Given the description of an element on the screen output the (x, y) to click on. 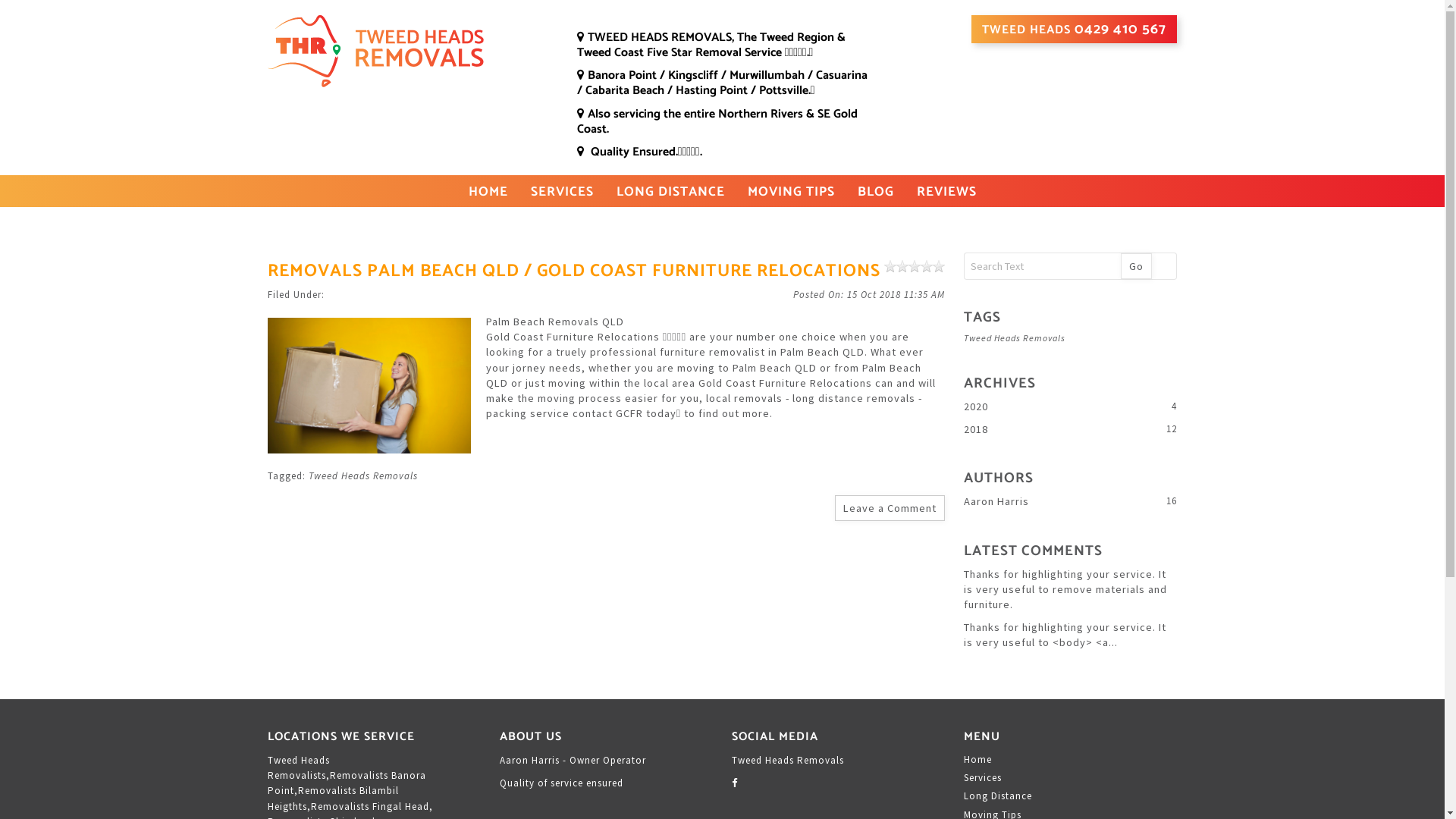
Tweed Heads Removals Element type: text (362, 475)
MOVING TIPS Element type: text (790, 191)
REVIEWS Element type: text (945, 191)
Tweed Heads Removals Element type: text (1014, 337)
Tweed Heads Removals Element type: hover (412, 51)
Home Element type: text (1070, 759)
HOME Element type: text (488, 191)
Go Element type: text (1135, 266)
TWEED HEADS 0429 410 567 Element type: text (1073, 29)
REMOVALS PALM BEACH QLD / GOLD COAST FURNITURE RELOCATIONS Element type: text (573, 271)
2020 Element type: text (1069, 406)
BLOG Element type: text (874, 191)
Aaron Harris Element type: text (1069, 500)
Long Distance Element type: text (1070, 795)
LONG DISTANCE Element type: text (669, 191)
15 Oct 2018 11:35 AM Element type: text (868, 294)
Services Element type: text (1070, 777)
SERVICES Element type: text (561, 191)
No Ratings Element type: hover (914, 266)
2018 Element type: text (1069, 428)
Leave a Comment Element type: text (889, 507)
